Given the description of an element on the screen output the (x, y) to click on. 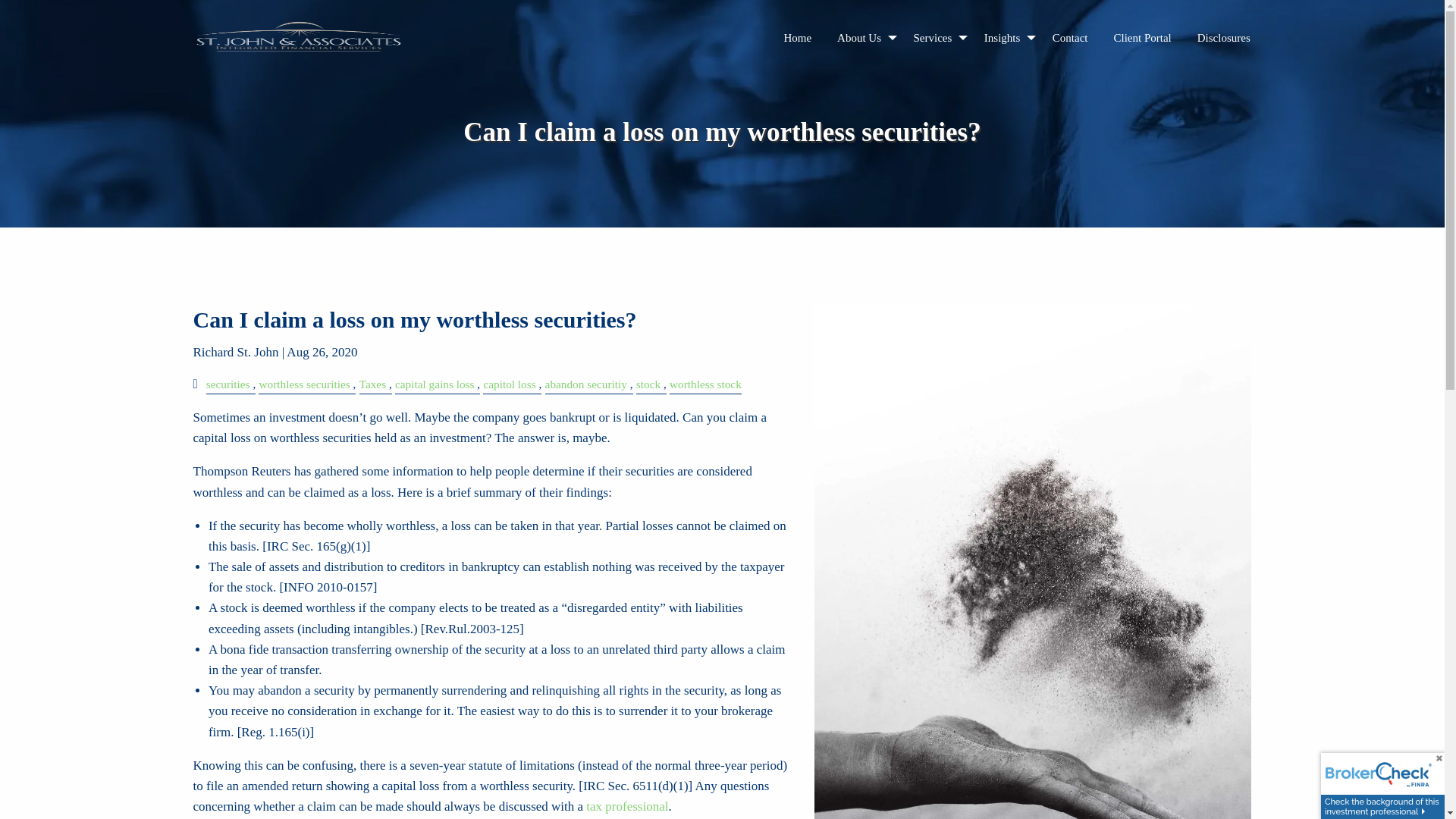
Contact (1069, 37)
securities (228, 383)
Home (797, 37)
About Us (861, 37)
Contact (1069, 37)
Tax Planning with Financial Services (627, 806)
Services (936, 37)
Disclosures (1224, 37)
Client Portal (1142, 37)
Disclosures (1224, 37)
Client Portal (1142, 37)
Insights (1005, 37)
